Given the description of an element on the screen output the (x, y) to click on. 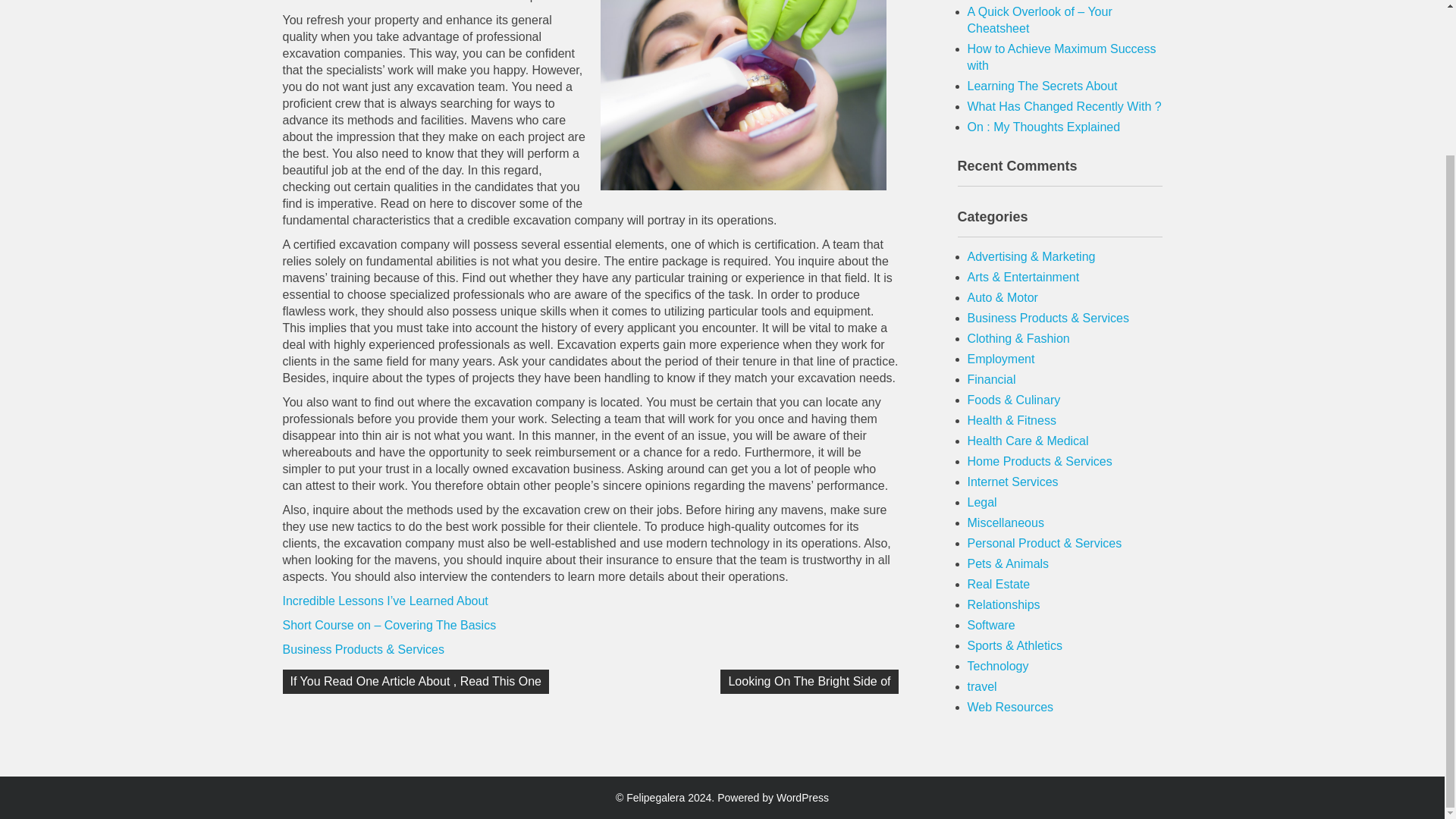
How to Achieve Maximum Success with (1062, 57)
Software (991, 625)
Miscellaneous (1005, 522)
Learning The Secrets About (1043, 85)
Relationships (1004, 604)
Financial (992, 379)
Web Resources (1011, 707)
On : My Thoughts Explained (1044, 126)
Employment (1001, 358)
If You Read One Article About , Read This One (415, 681)
Internet Services (1013, 481)
Real Estate (999, 584)
What Has Changed Recently With ? (1064, 106)
Technology (998, 666)
travel (982, 686)
